Given the description of an element on the screen output the (x, y) to click on. 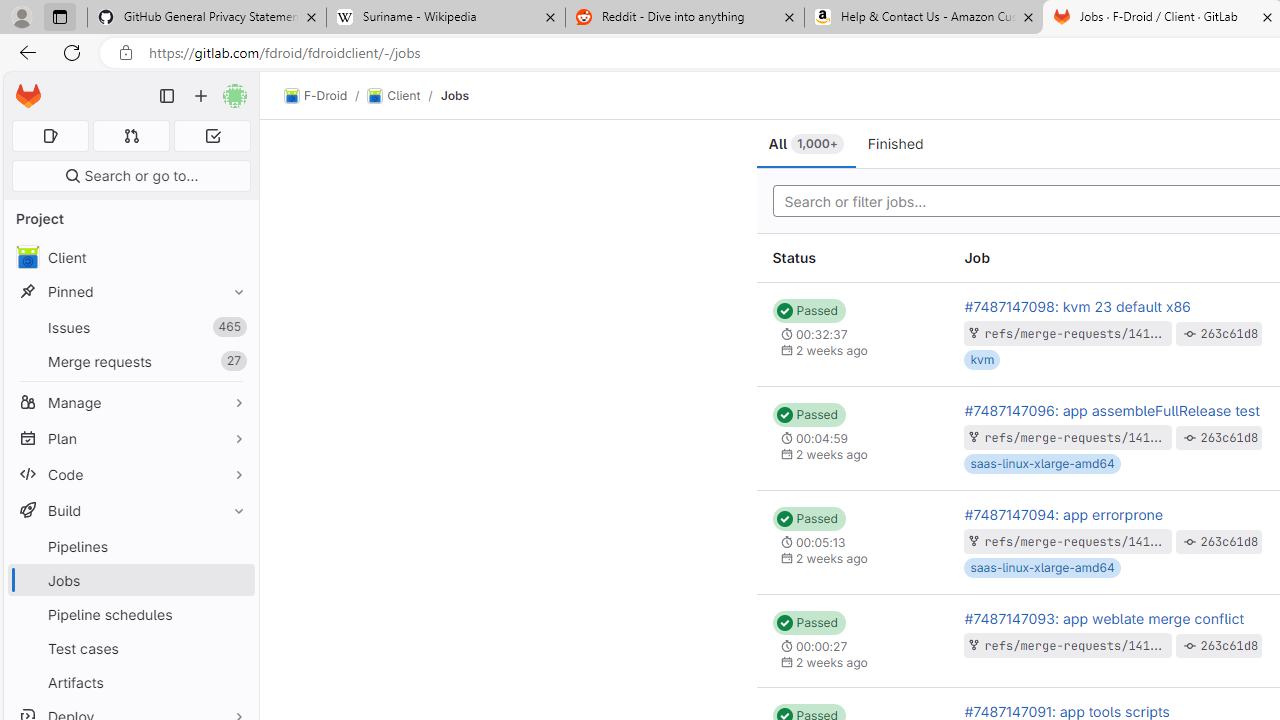
Pin Pipelines (234, 546)
F-Droid (316, 96)
Artifacts (130, 682)
Skip to main content (23, 87)
Pipelines (130, 546)
#7487147093: app weblate merge conflict (1103, 618)
Pin Artifacts (234, 682)
#7487147098: kvm 23 default x86 (1076, 306)
Merge requests 27 (130, 361)
Finished (895, 143)
Status: Passed (808, 623)
Jobs (454, 95)
#7487147091: app tools scripts (1066, 711)
